Given the description of an element on the screen output the (x, y) to click on. 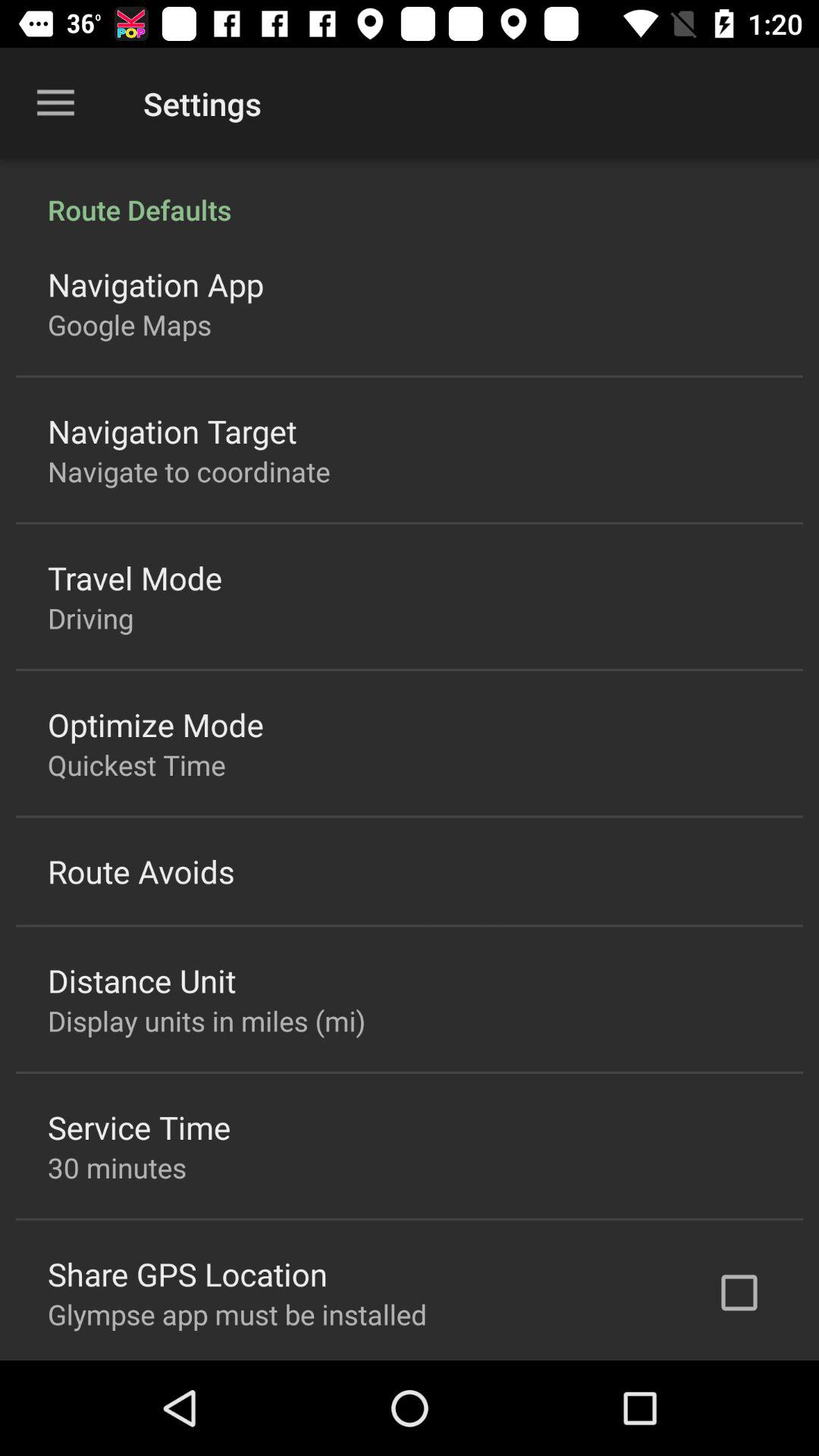
launch travel mode icon (134, 577)
